Given the description of an element on the screen output the (x, y) to click on. 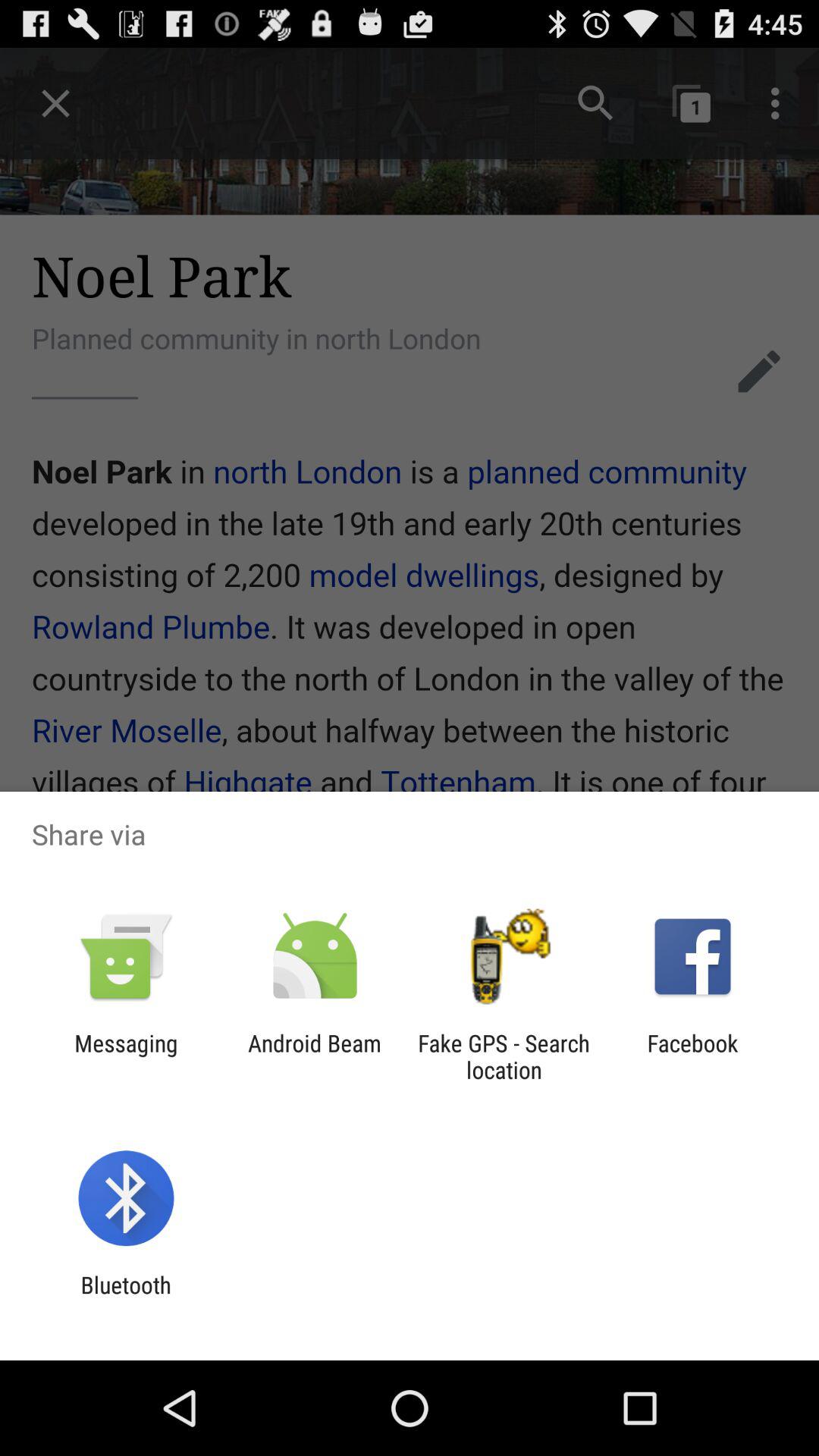
tap the app to the left of fake gps search (314, 1056)
